Given the description of an element on the screen output the (x, y) to click on. 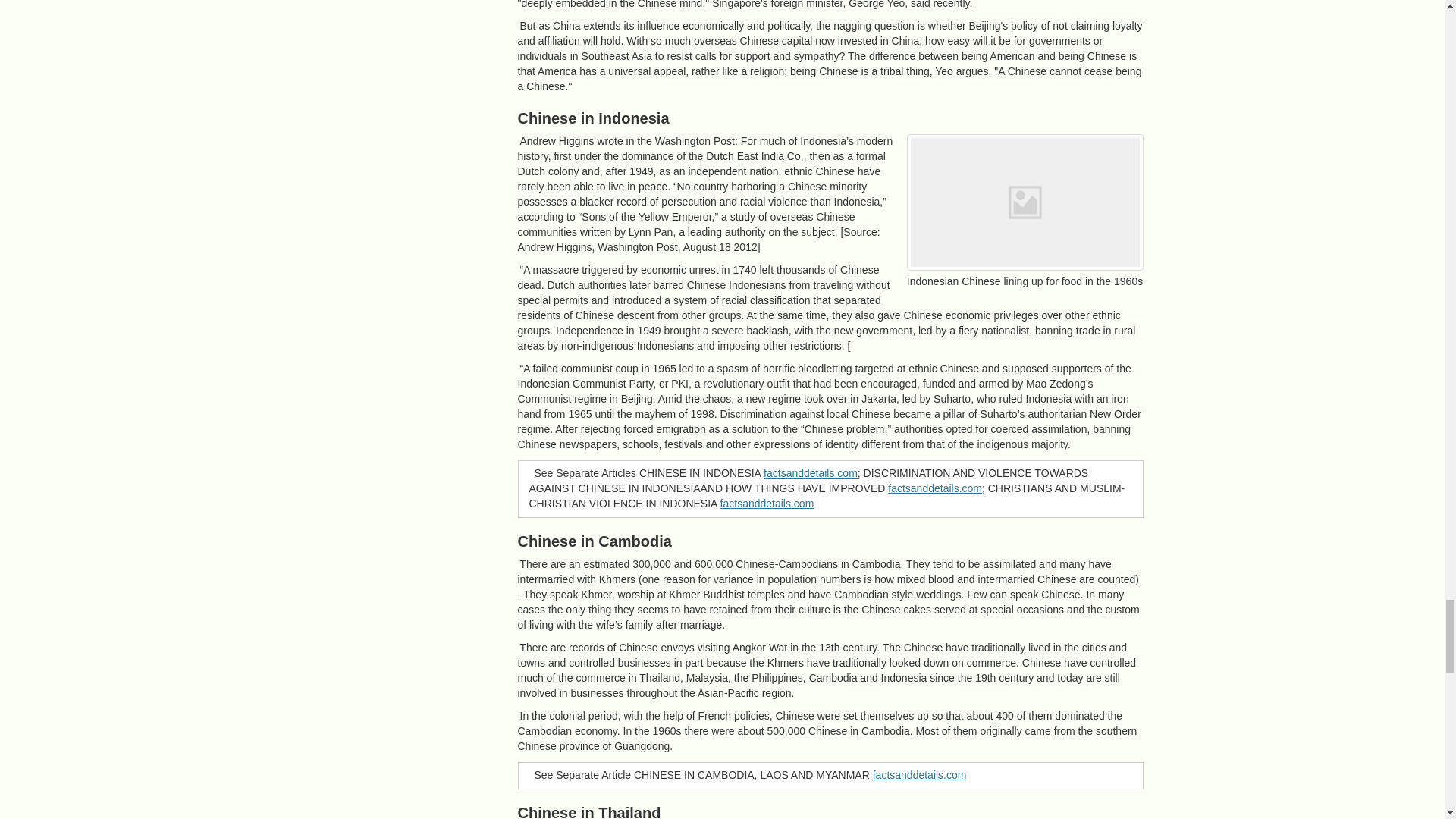
factsanddetails.com (934, 488)
factsanddetails.com (809, 472)
factsanddetails.com (919, 775)
factsanddetails.com (766, 503)
